Given the description of an element on the screen output the (x, y) to click on. 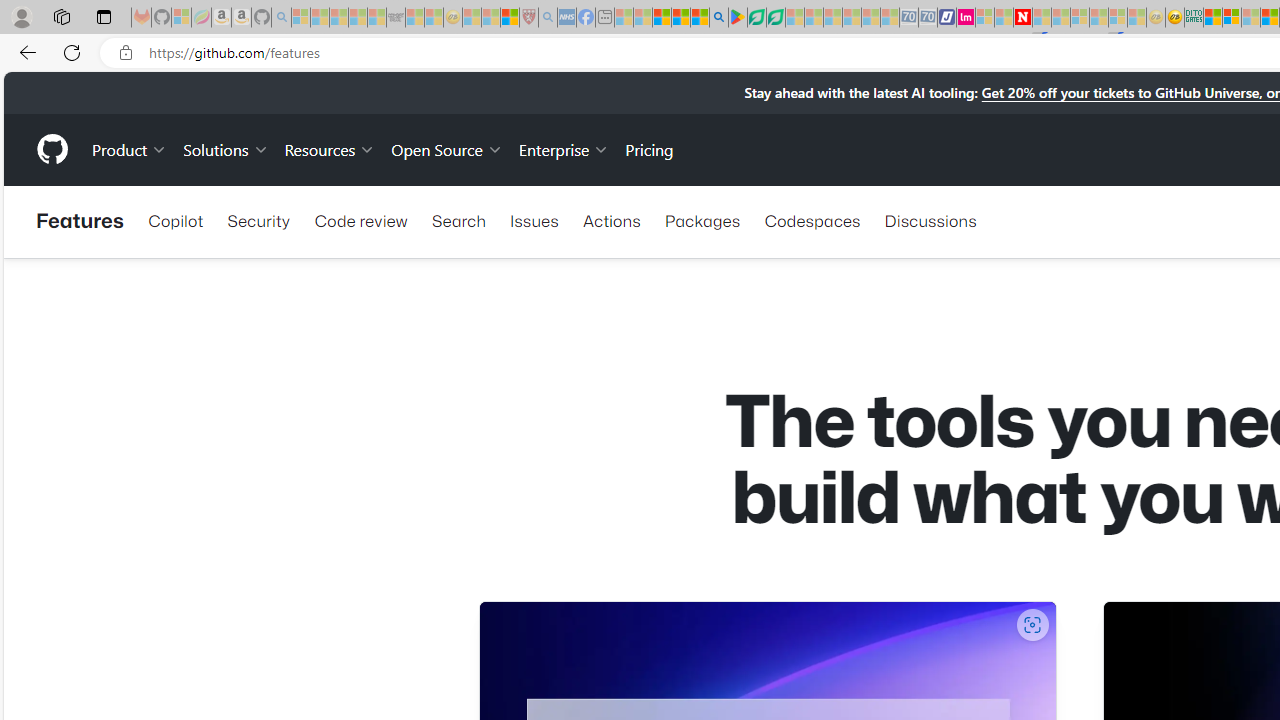
Terms of Use Agreement (756, 17)
Resources (330, 148)
Resources (330, 148)
Codespaces (812, 220)
Discussions (930, 220)
Open Source (446, 148)
